Given the description of an element on the screen output the (x, y) to click on. 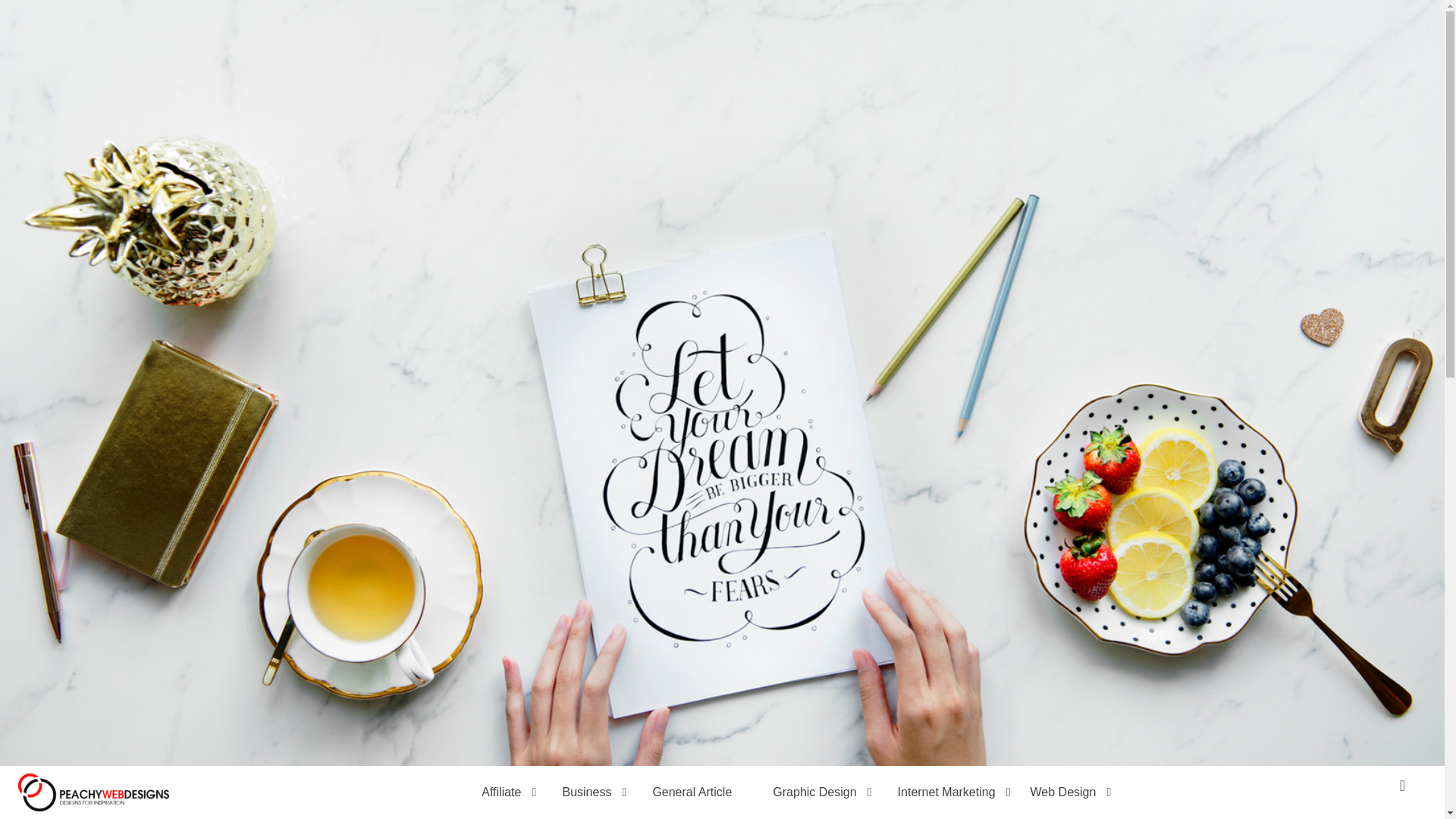
Business (586, 792)
Affiliate (501, 792)
Graphic Design (814, 792)
Affiliate (501, 792)
Peachy Web Designs (404, 68)
Web Design (1063, 792)
Internet Marketing (946, 792)
General Article (691, 792)
Business (586, 792)
Graphic Design (814, 792)
